Given the description of an element on the screen output the (x, y) to click on. 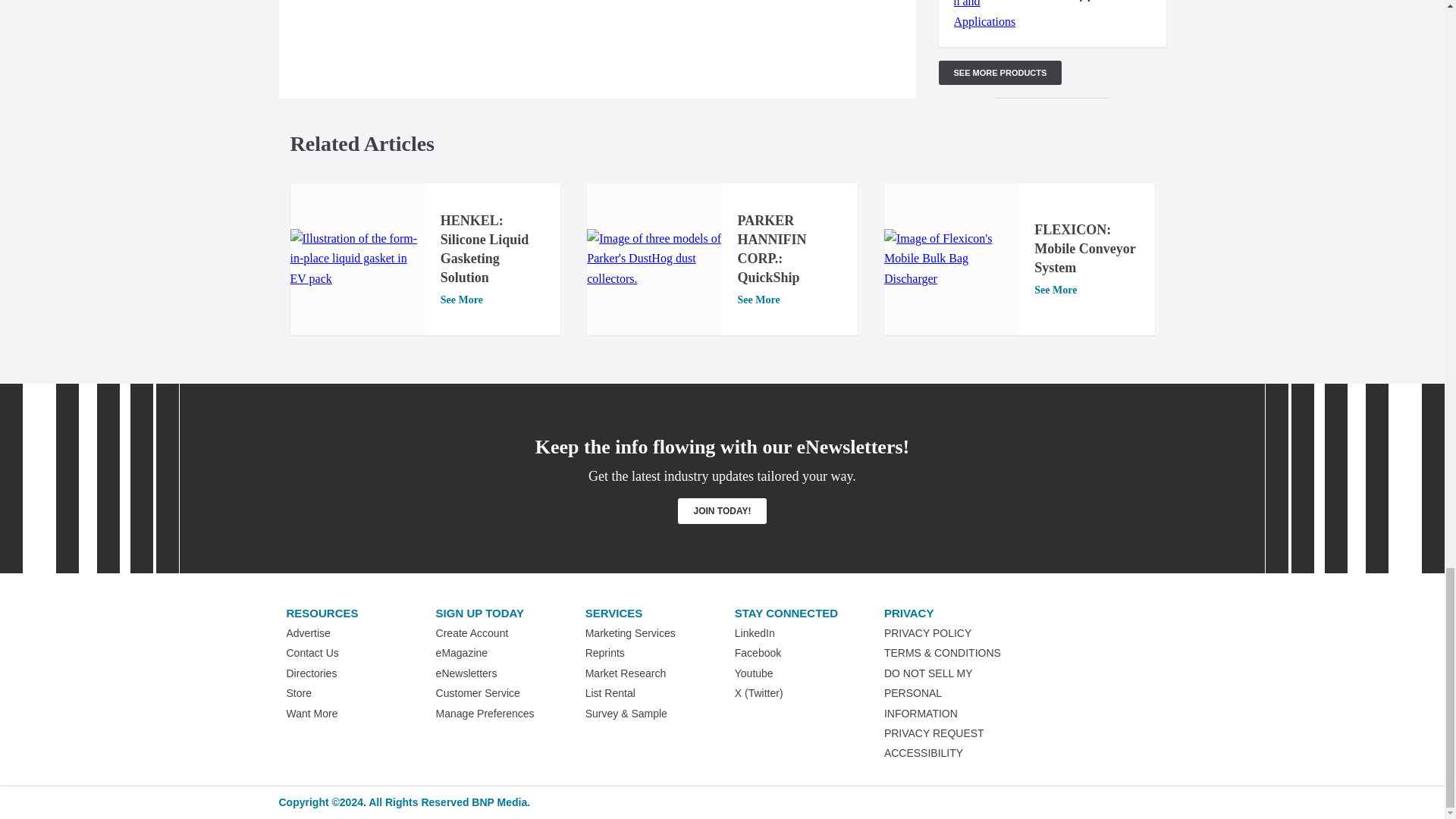
Illustration of the form-in-place liquid gasket in EV pack (357, 259)
Parker DustHog models (654, 259)
Flexicon Mobile Bulk Bag Discharger (951, 259)
